Given the description of an element on the screen output the (x, y) to click on. 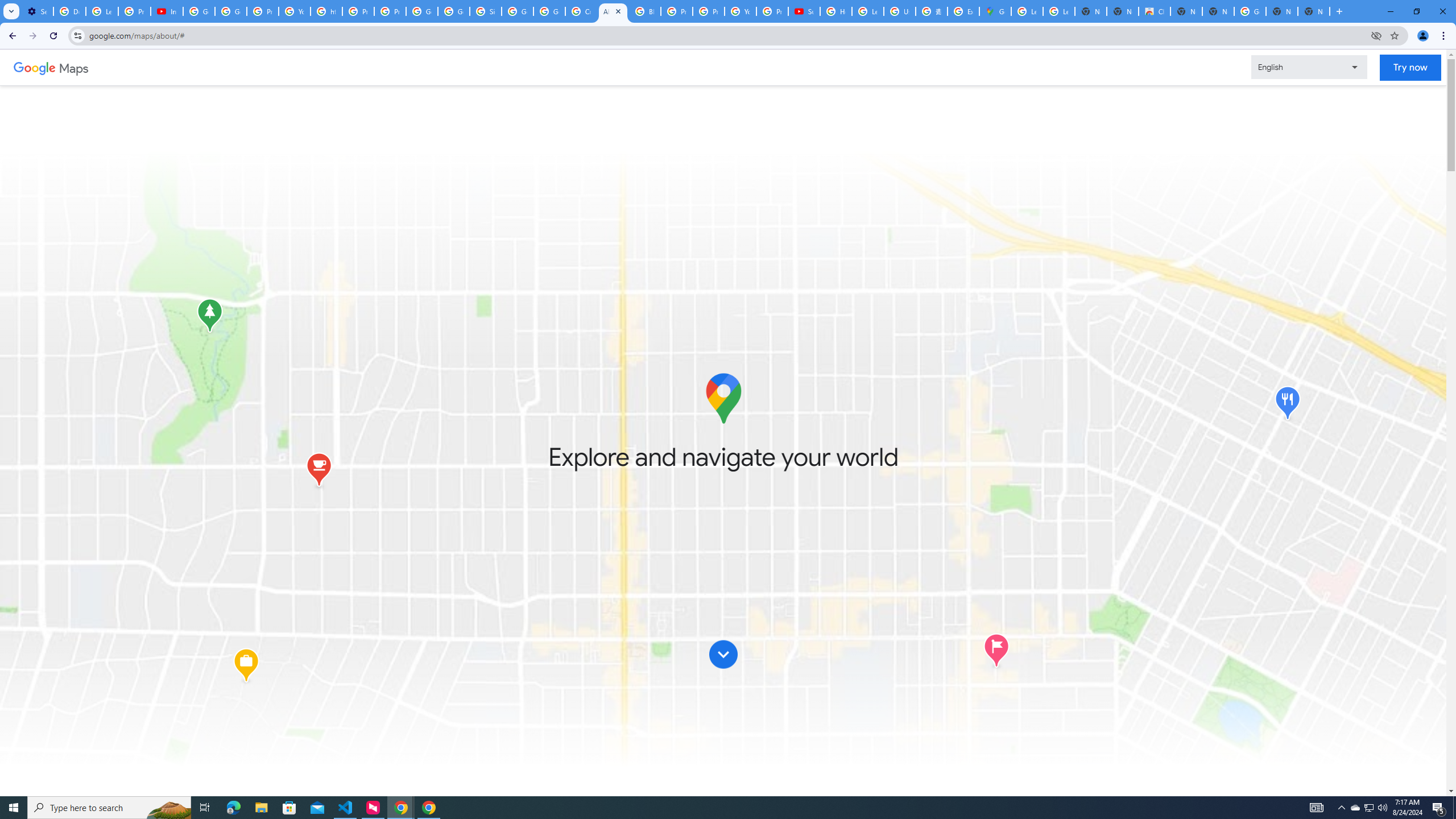
Create your Google Account (581, 11)
Learn how to find your photos - Google Photos Help (101, 11)
Chrome Web Store (1154, 11)
Blogger Policies and Guidelines - Transparency Center (644, 11)
Skip to Content (723, 660)
Maps (73, 67)
